Given the description of an element on the screen output the (x, y) to click on. 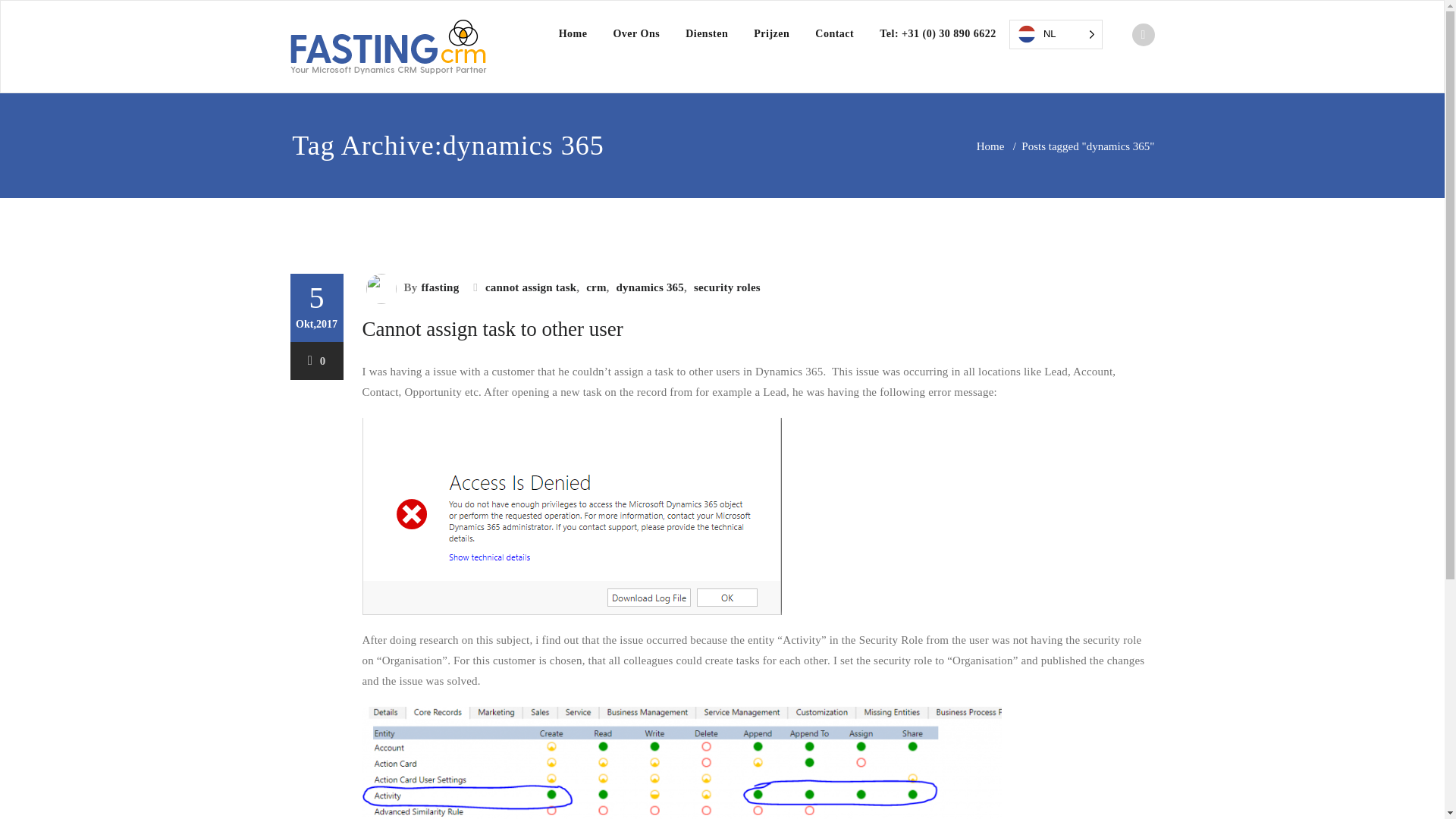
crm (593, 287)
Home (990, 146)
Home (572, 33)
cannot assign task (528, 287)
security roles (725, 287)
ffasting (437, 287)
Cannot assign task to other user (492, 328)
Over Ons (635, 33)
0 (316, 360)
Diensten (706, 33)
NL (1056, 34)
dynamics 365 (648, 287)
Contact (834, 33)
Prijzen (771, 33)
